Given the description of an element on the screen output the (x, y) to click on. 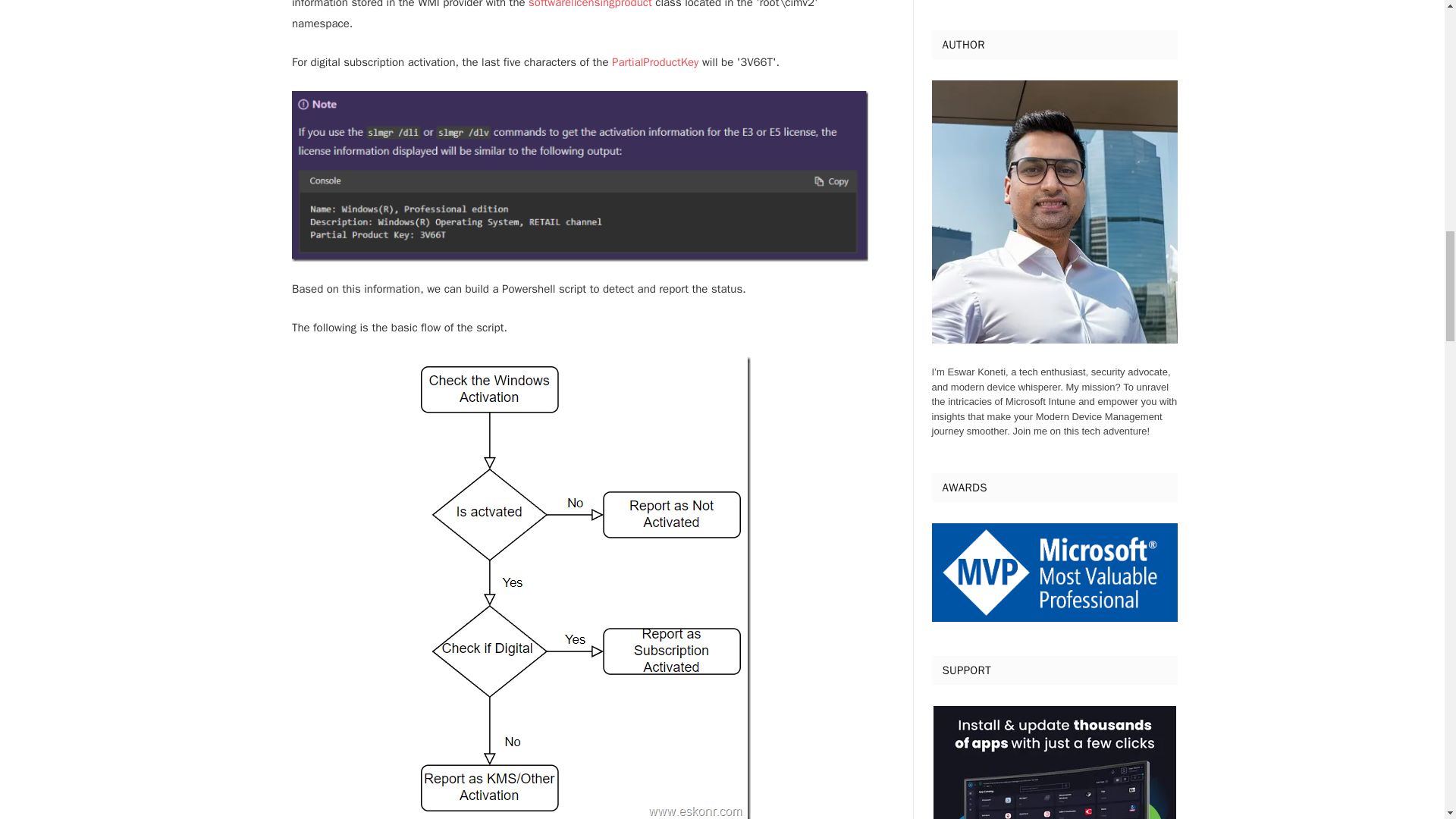
softwarelicensingproduct (590, 4)
PartialProductKey (654, 61)
